Given the description of an element on the screen output the (x, y) to click on. 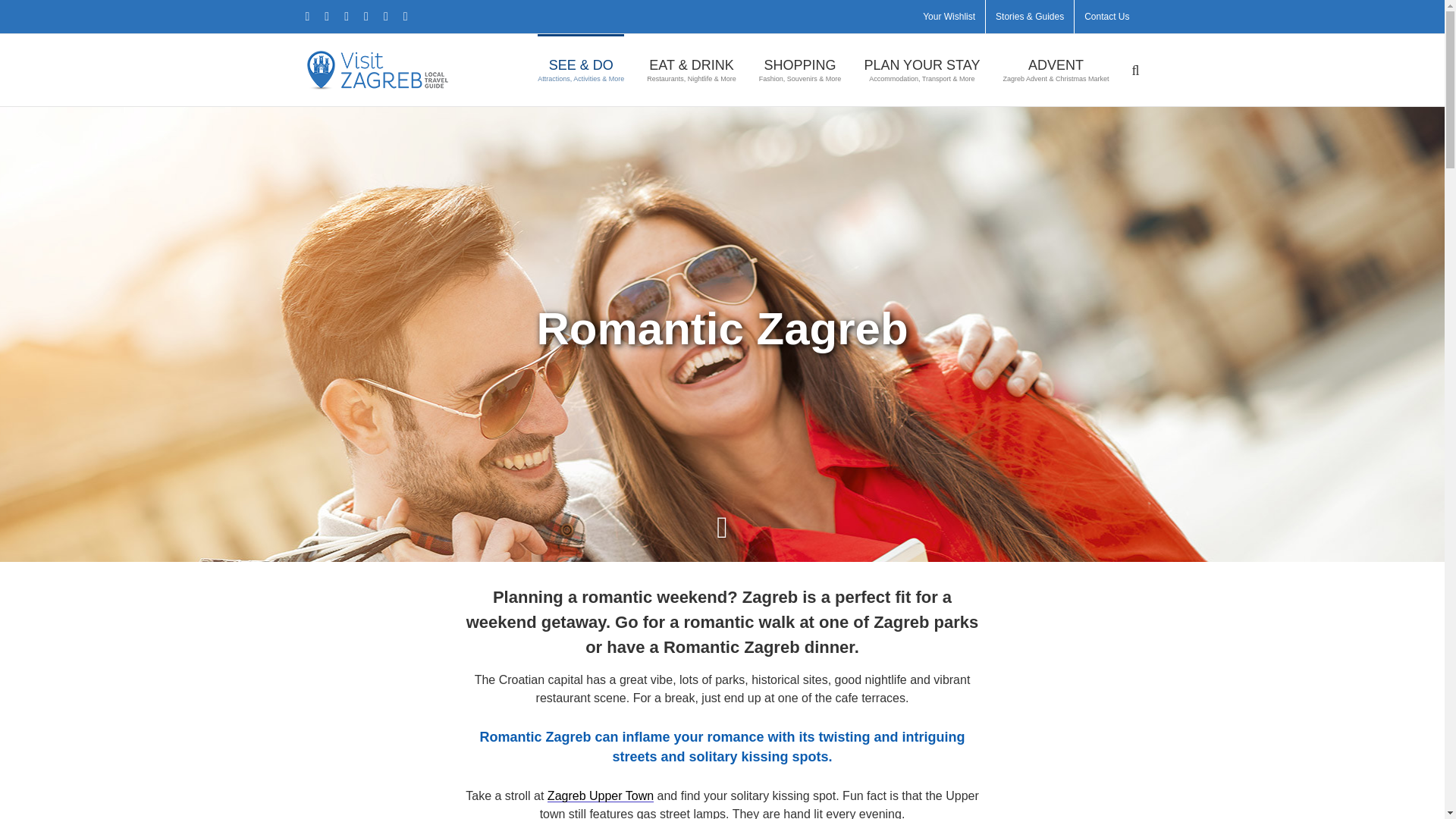
What to See and Do in Zagreb (580, 69)
Your Wishlist (948, 16)
Contact Us (1106, 16)
